Given the description of an element on the screen output the (x, y) to click on. 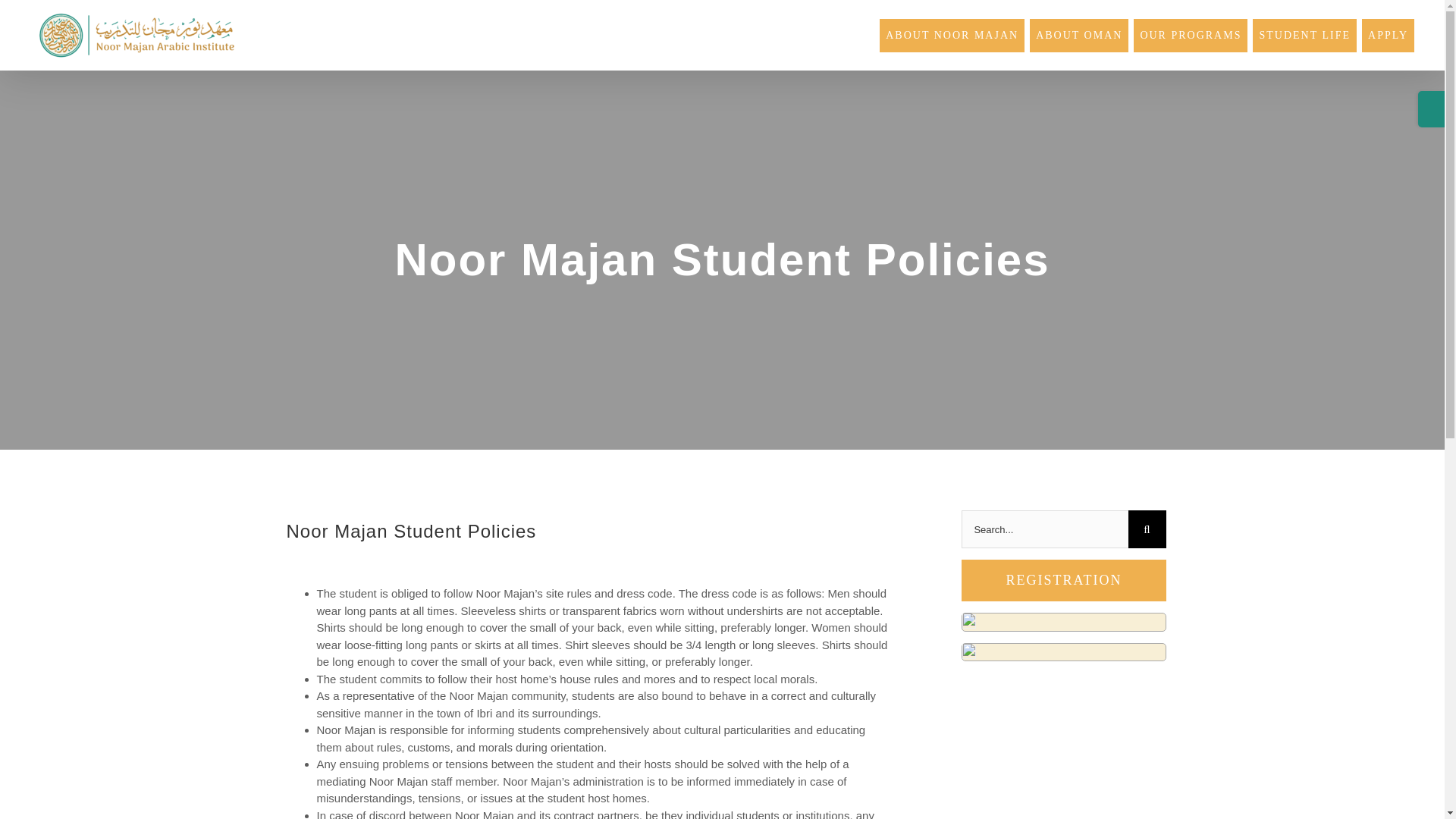
ABOUT OMAN (1078, 31)
OUR PROGRAMS (1190, 31)
STUDENT LIFE (1304, 31)
ABOUT NOOR MAJAN (952, 31)
